Given the description of an element on the screen output the (x, y) to click on. 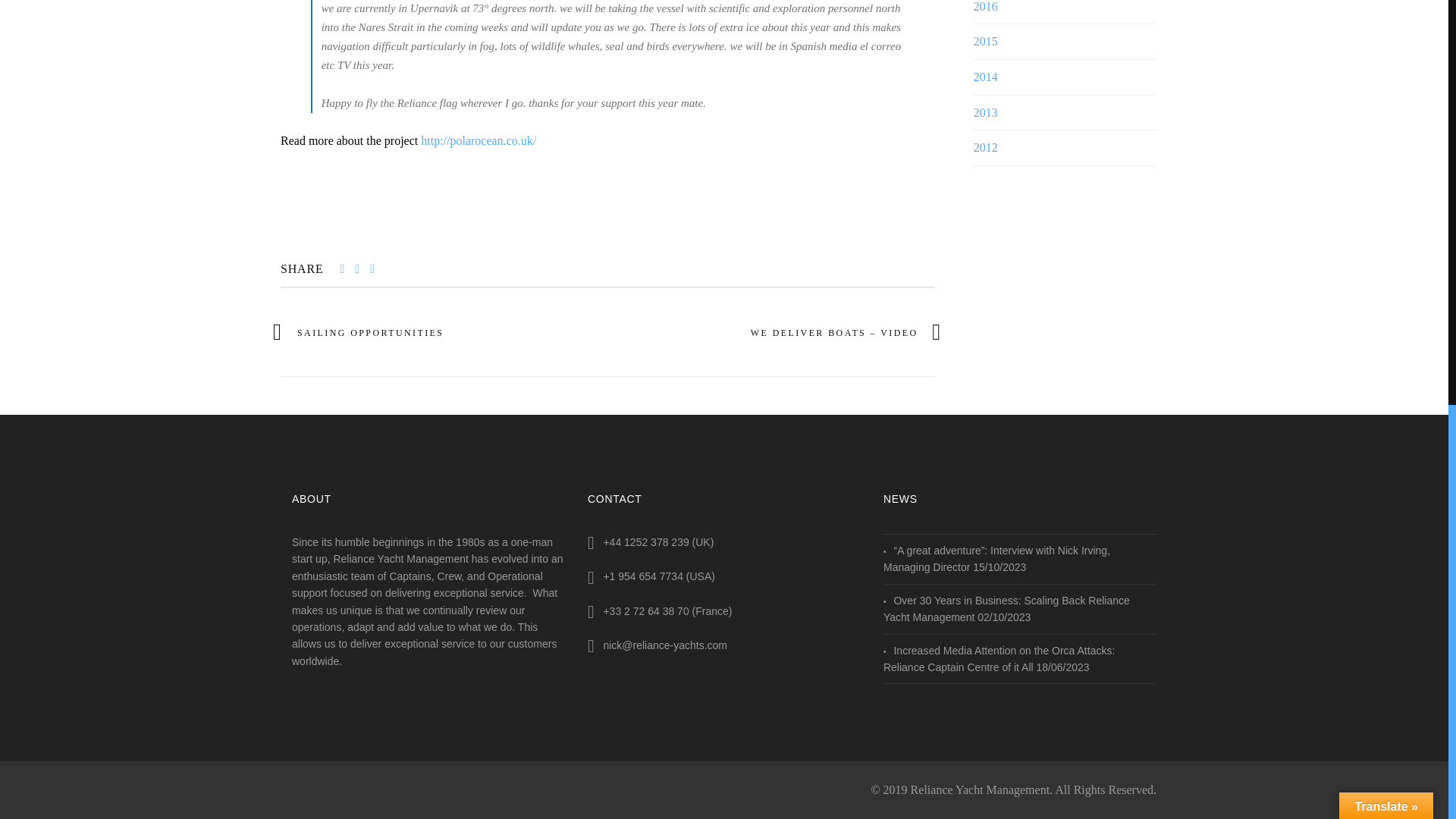
Go to top (1409, 39)
